Given the description of an element on the screen output the (x, y) to click on. 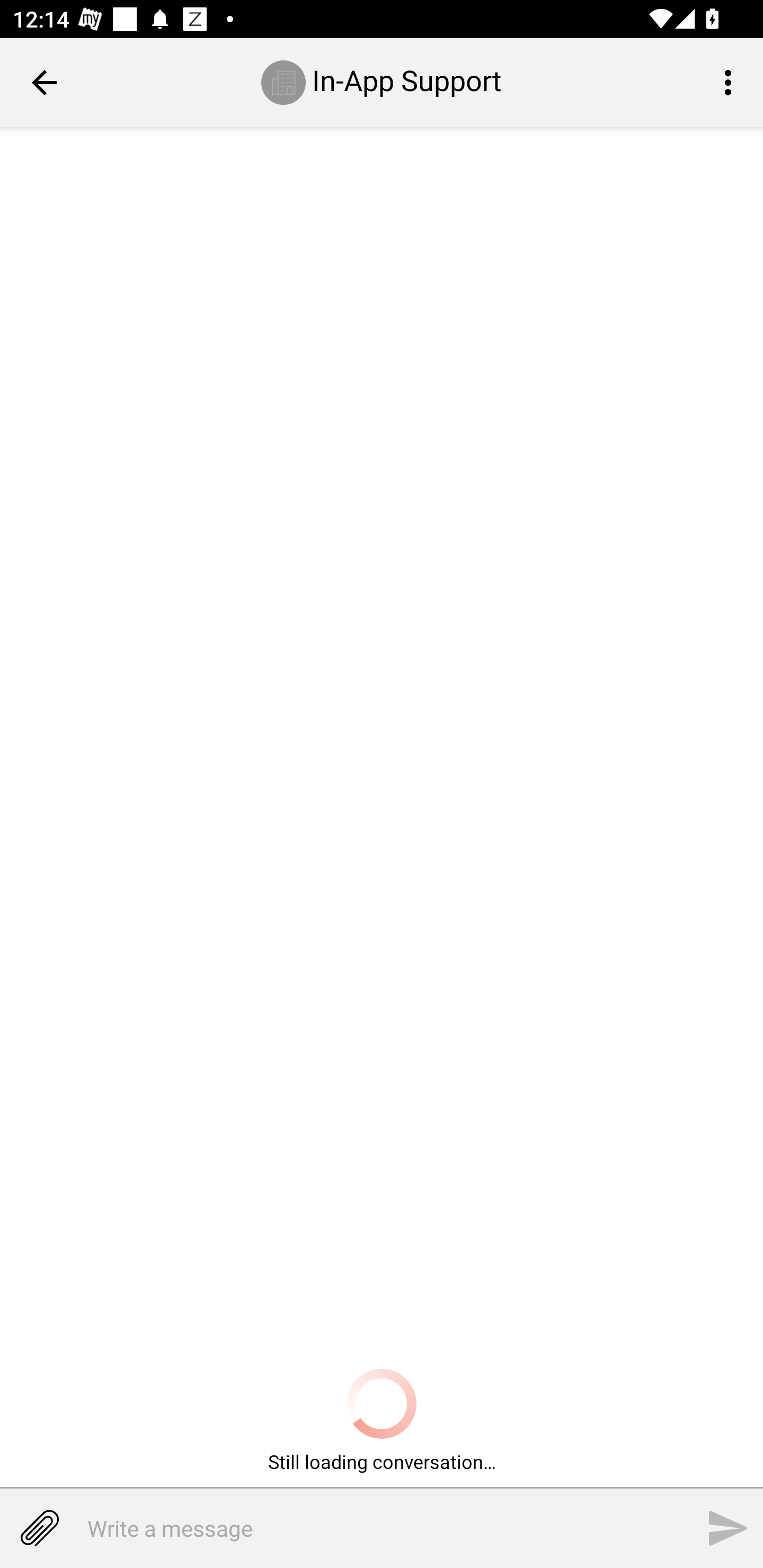
Navigate up (44, 82)
More options (731, 81)
Still loading conversation… (381, 1422)
Attachment menu button collapsed (39, 1528)
SEND (727, 1528)
Write a message (357, 1527)
